Given the description of an element on the screen output the (x, y) to click on. 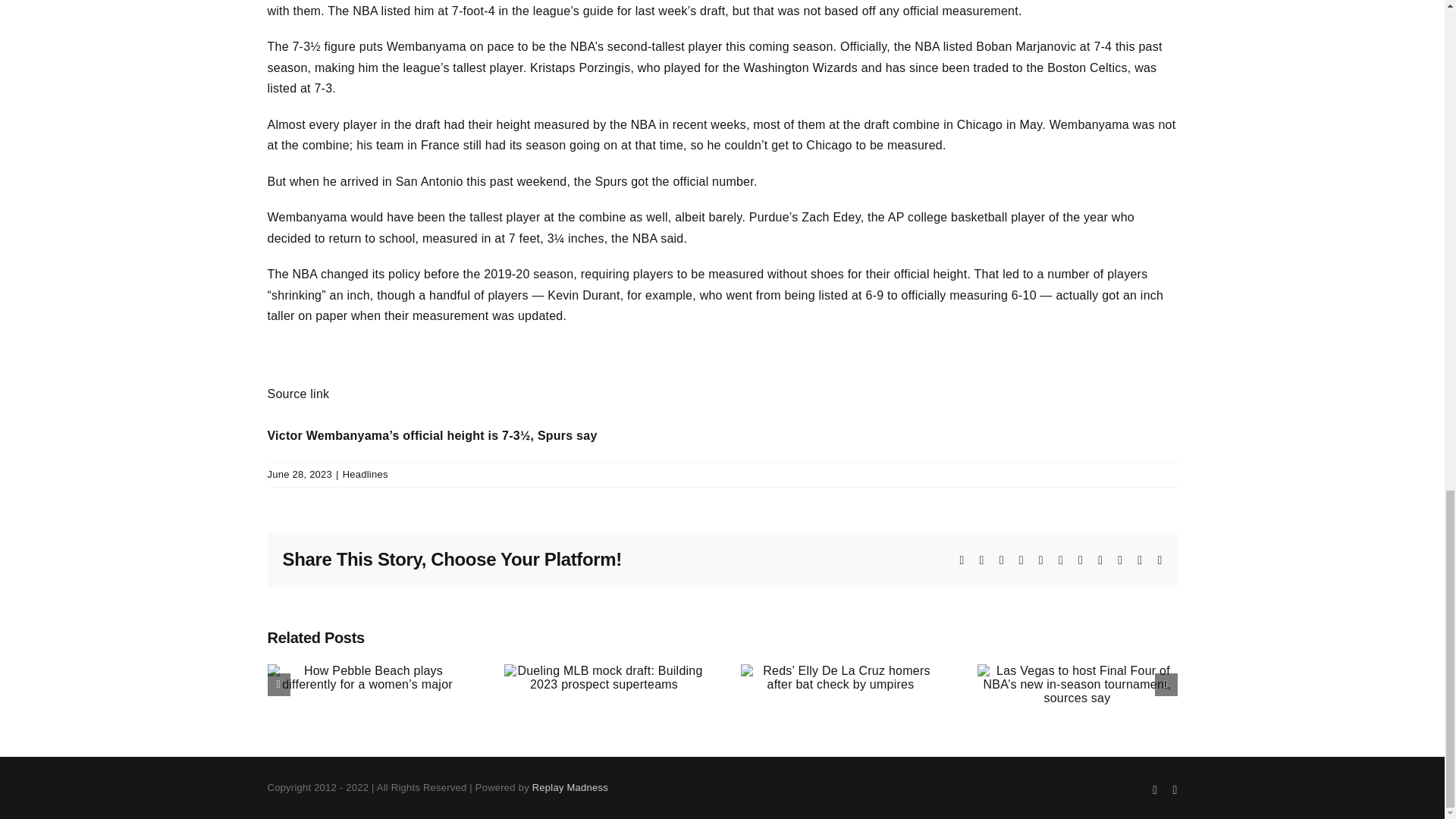
Headlines (365, 473)
Source link (297, 393)
Boston Celtics (1086, 67)
Washington Wizards (800, 67)
Boban Marjanovic (1025, 46)
Kristaps Porzingis (579, 67)
Kevin Durant (583, 295)
